Given the description of an element on the screen output the (x, y) to click on. 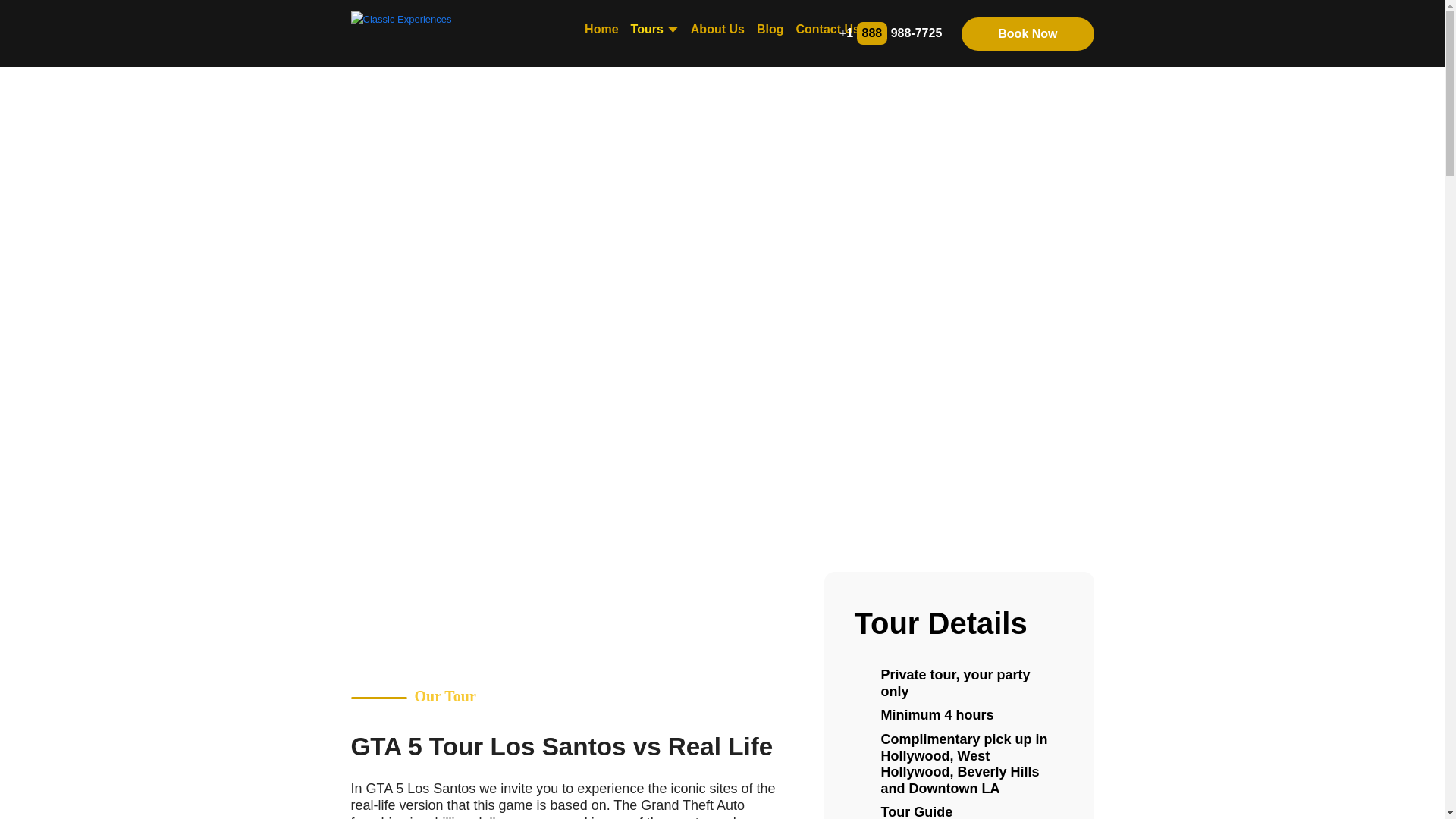
Book Now (1026, 33)
Home (601, 29)
About Us (717, 29)
Blog (770, 29)
Contact Us (826, 29)
Tours (654, 29)
